Given the description of an element on the screen output the (x, y) to click on. 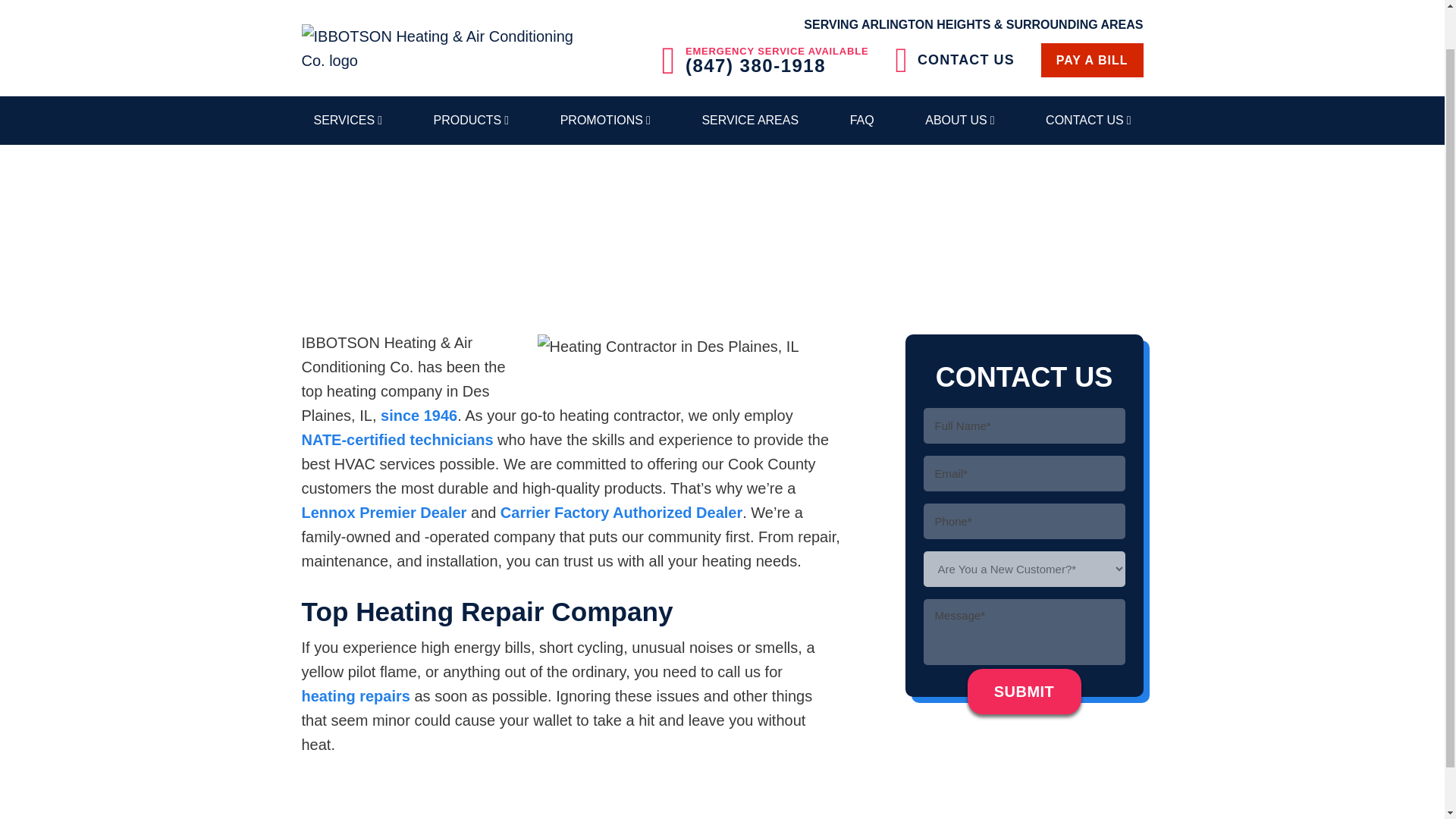
PAY A BILL (1091, 53)
SERVICE AREAS (749, 114)
Submit (1024, 691)
PROMOTIONS (605, 114)
CONTACT US (954, 53)
CONTACT US (1087, 114)
ABOUT US (959, 114)
SERVICES (347, 114)
PRODUCTS (471, 114)
FAQ (862, 114)
